Given the description of an element on the screen output the (x, y) to click on. 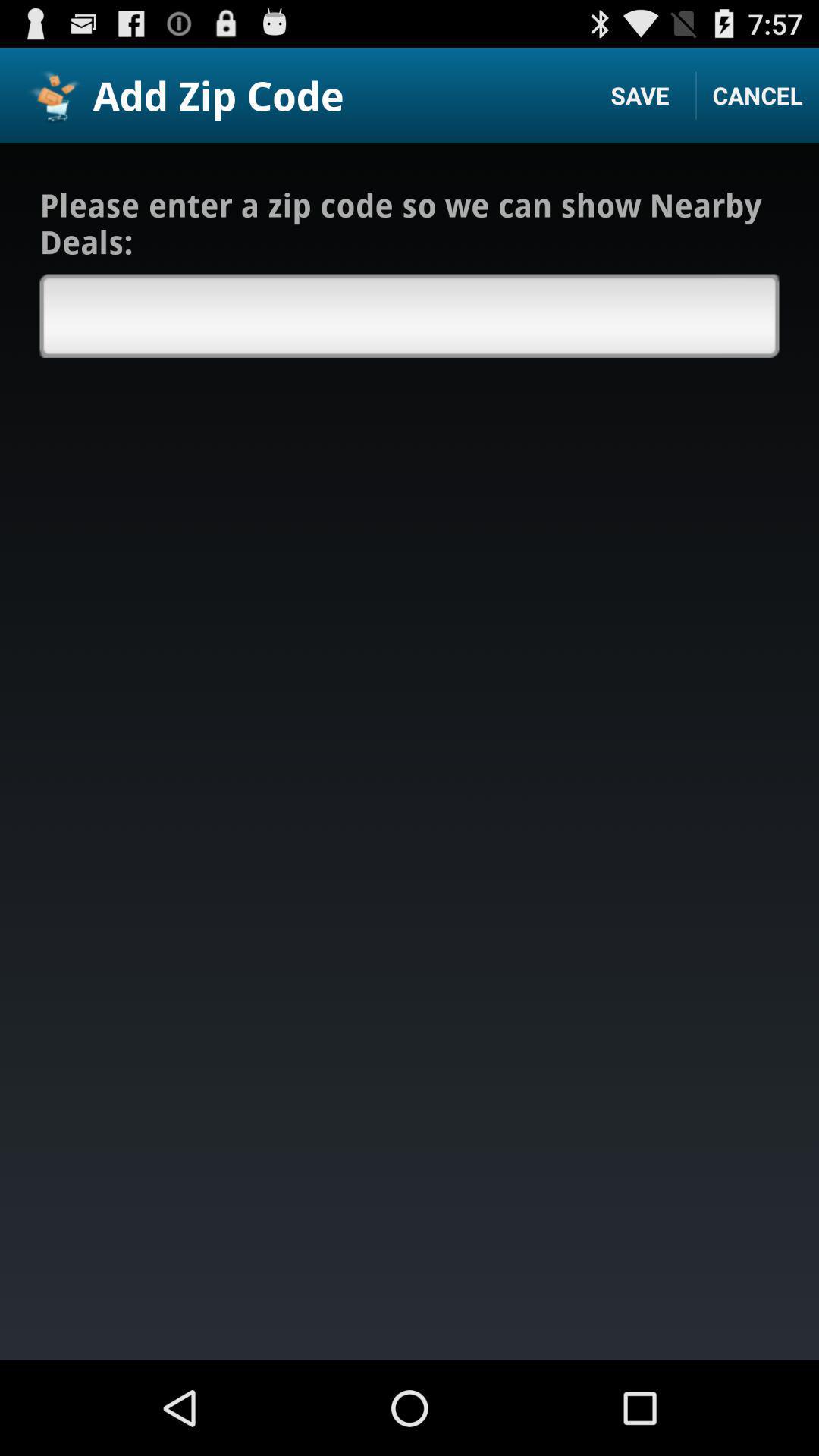
it helps to enter the zip code (409, 315)
